Given the description of an element on the screen output the (x, y) to click on. 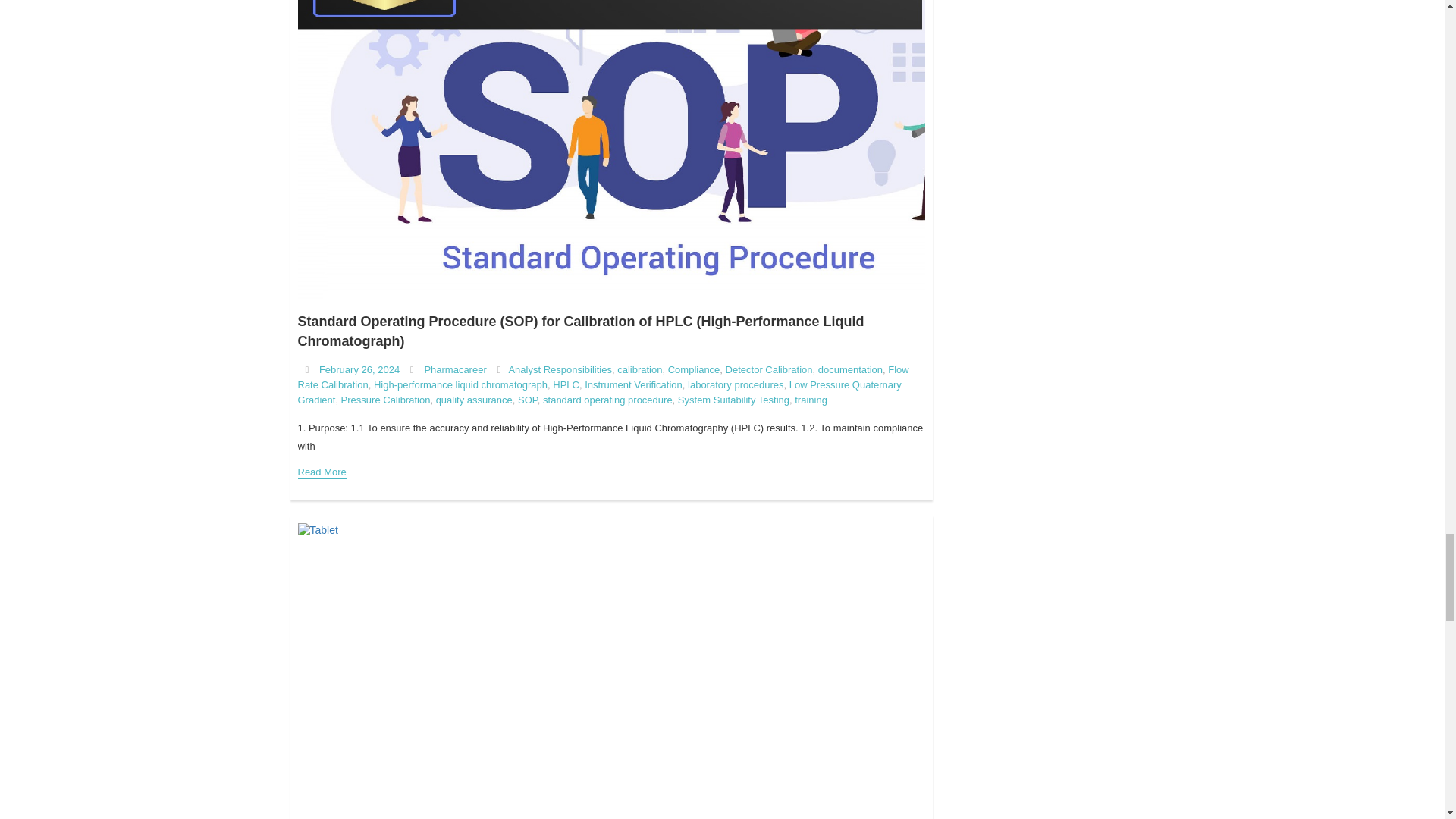
5:41 pm (358, 369)
